Given the description of an element on the screen output the (x, y) to click on. 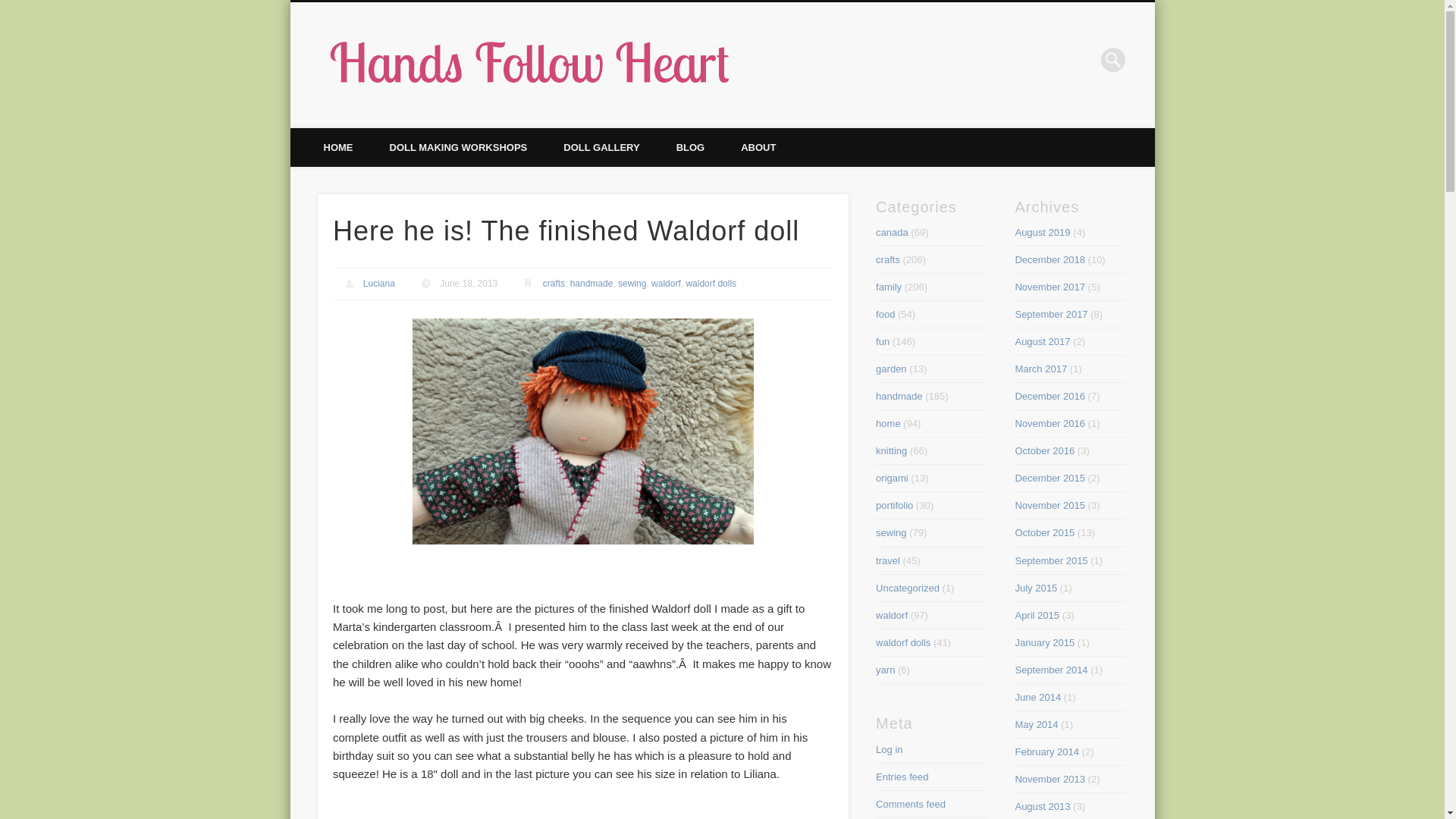
handmade (591, 283)
crafts (887, 259)
HOME (337, 147)
family (888, 286)
Posts by Luciana (378, 283)
waldorf (665, 283)
Luciana (378, 283)
waldorf dolls (710, 283)
crafts (553, 283)
hands follow heart (846, 59)
BLOG (690, 147)
sewing (631, 283)
food (885, 314)
canada (892, 232)
DOLL MAKING WORKSHOPS (458, 147)
